Given the description of an element on the screen output the (x, y) to click on. 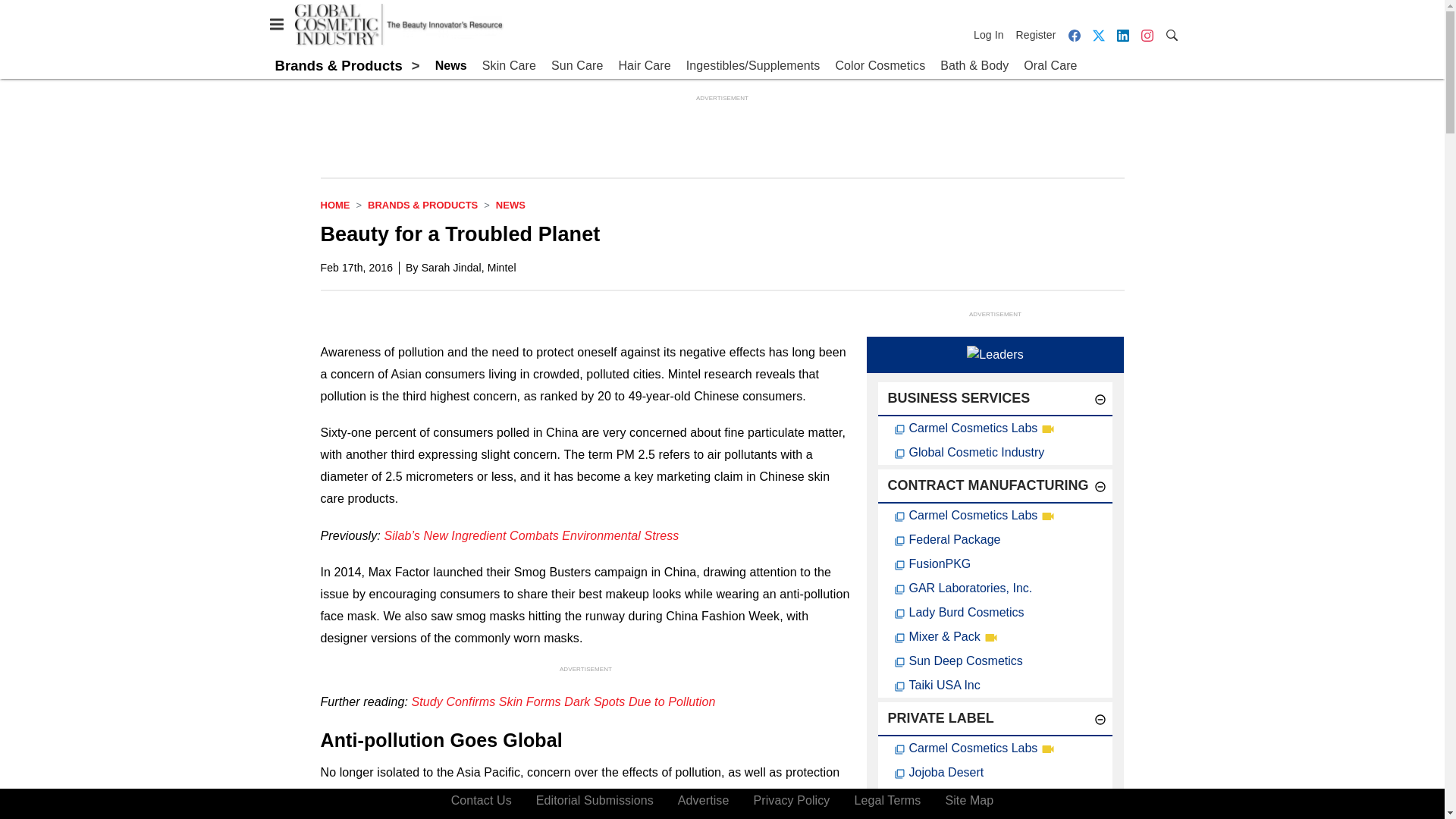
Facebook icon (1073, 35)
LinkedIn icon (1122, 35)
Instagram icon (1146, 35)
Twitter X icon (1097, 35)
